Given the description of an element on the screen output the (x, y) to click on. 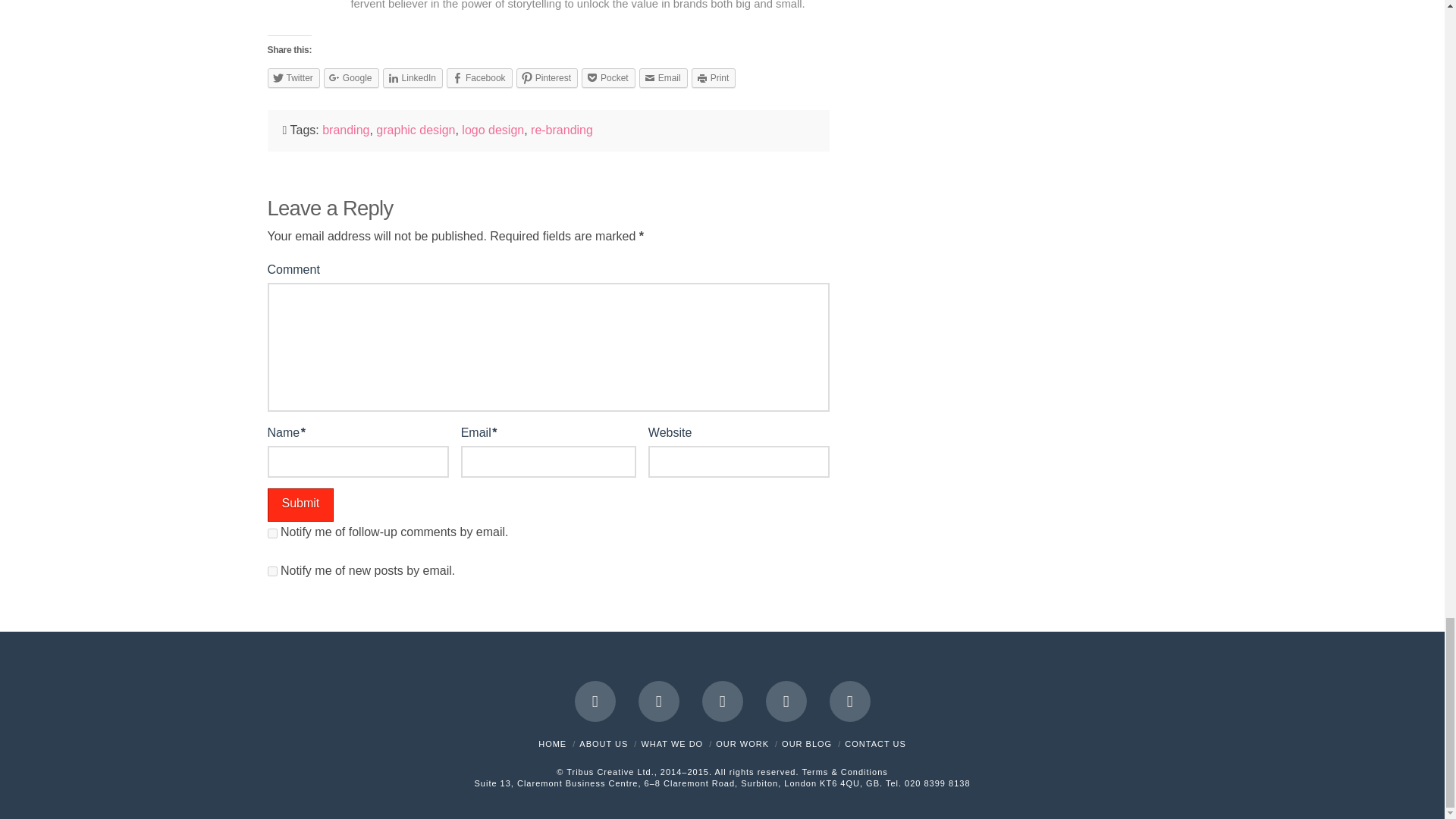
graphic design (414, 129)
subscribe (271, 533)
LinkedIn (412, 77)
Pinterest (547, 77)
Submit (299, 505)
Print (713, 77)
Pocket (607, 77)
Twitter (292, 77)
branding (345, 129)
Click to share on Facebook (479, 77)
